Given the description of an element on the screen output the (x, y) to click on. 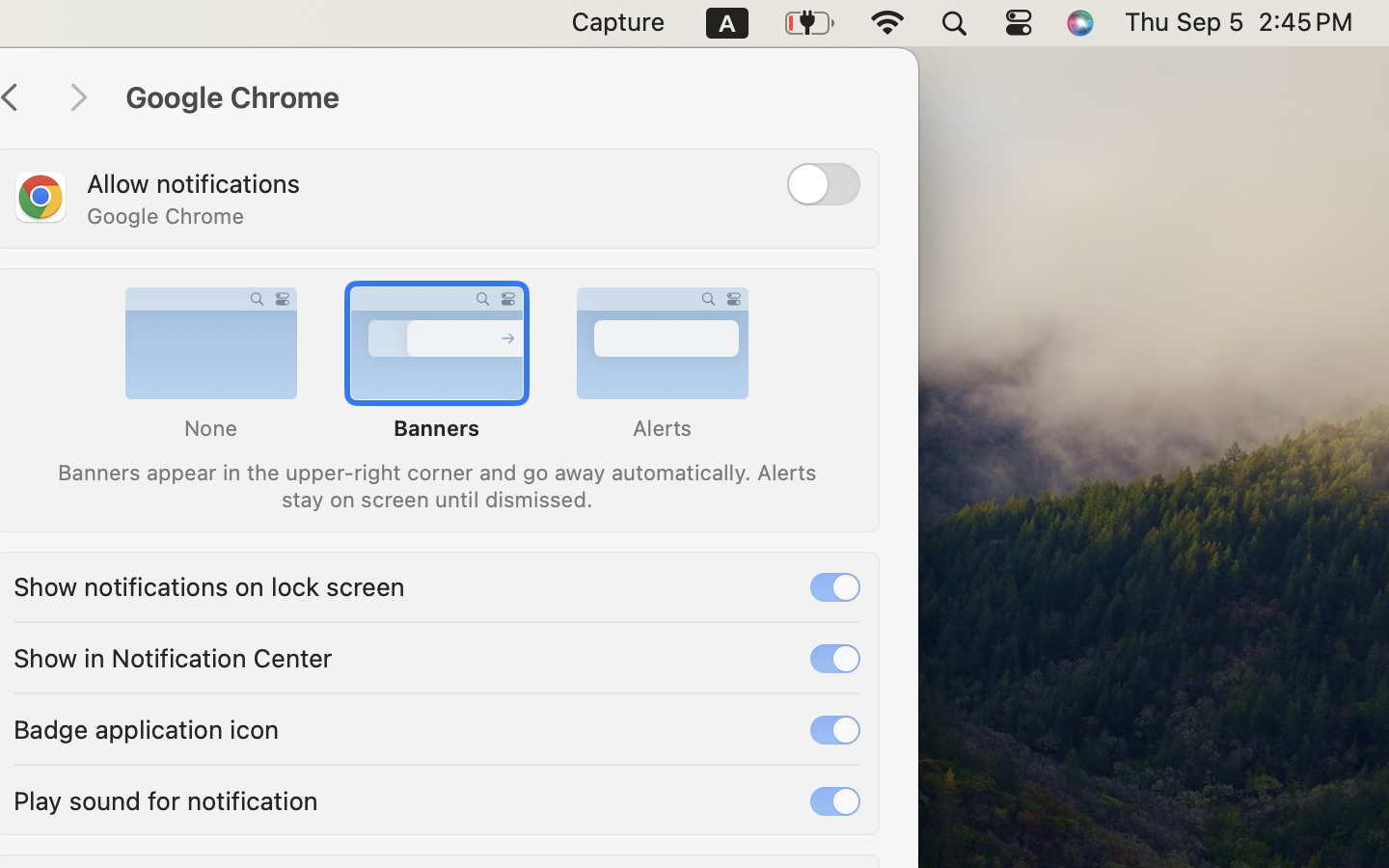
1 Element type: AXCheckBox (835, 586)
Show in Notification Center Element type: AXStaticText (172, 655)
Play sound for notification Element type: AXStaticText (165, 798)
Banners appear in the upper-right corner and go away automatically. Alerts stay on screen until dismissed. Element type: AXStaticText (435, 484)
Badge application icon Element type: AXStaticText (146, 726)
